Given the description of an element on the screen output the (x, y) to click on. 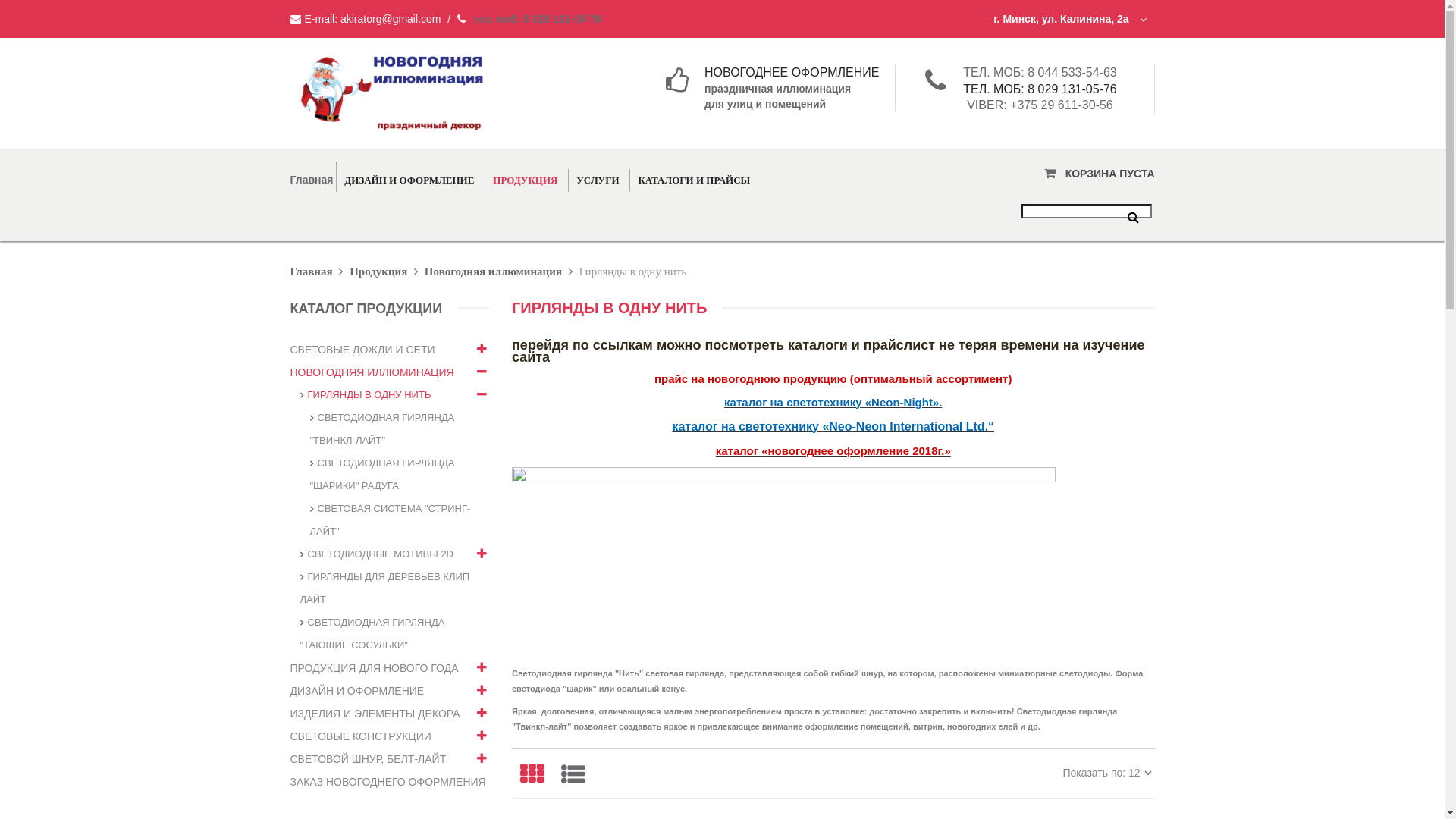
VIBER: +375 29 611-30-56 Element type: text (1039, 104)
